Given the description of an element on the screen output the (x, y) to click on. 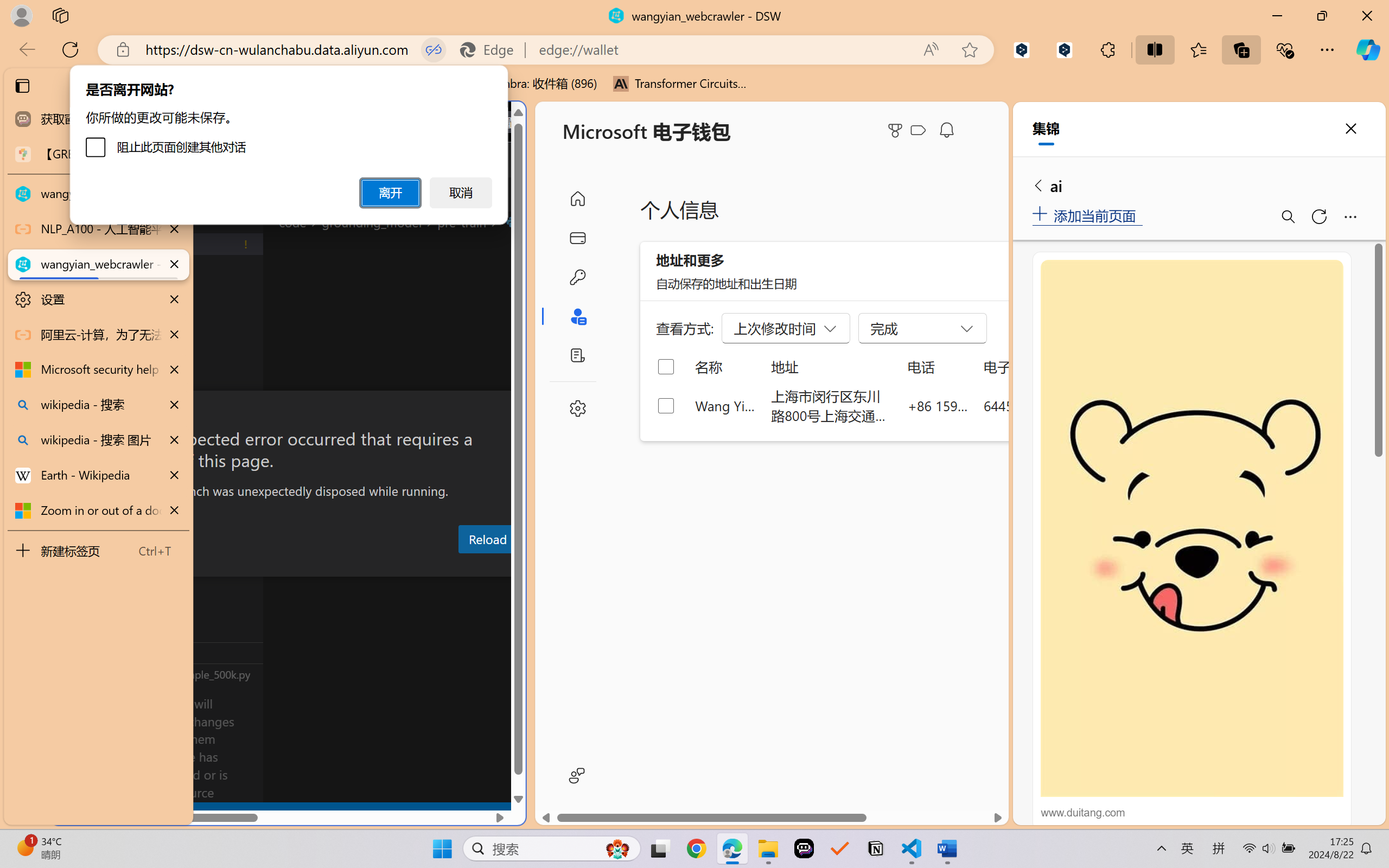
Microsoft Rewards (896, 129)
Extensions (Ctrl+Shift+X) (73, 422)
Google Chrome (696, 848)
Close Dialog (520, 410)
No Problems (115, 812)
